Given the description of an element on the screen output the (x, y) to click on. 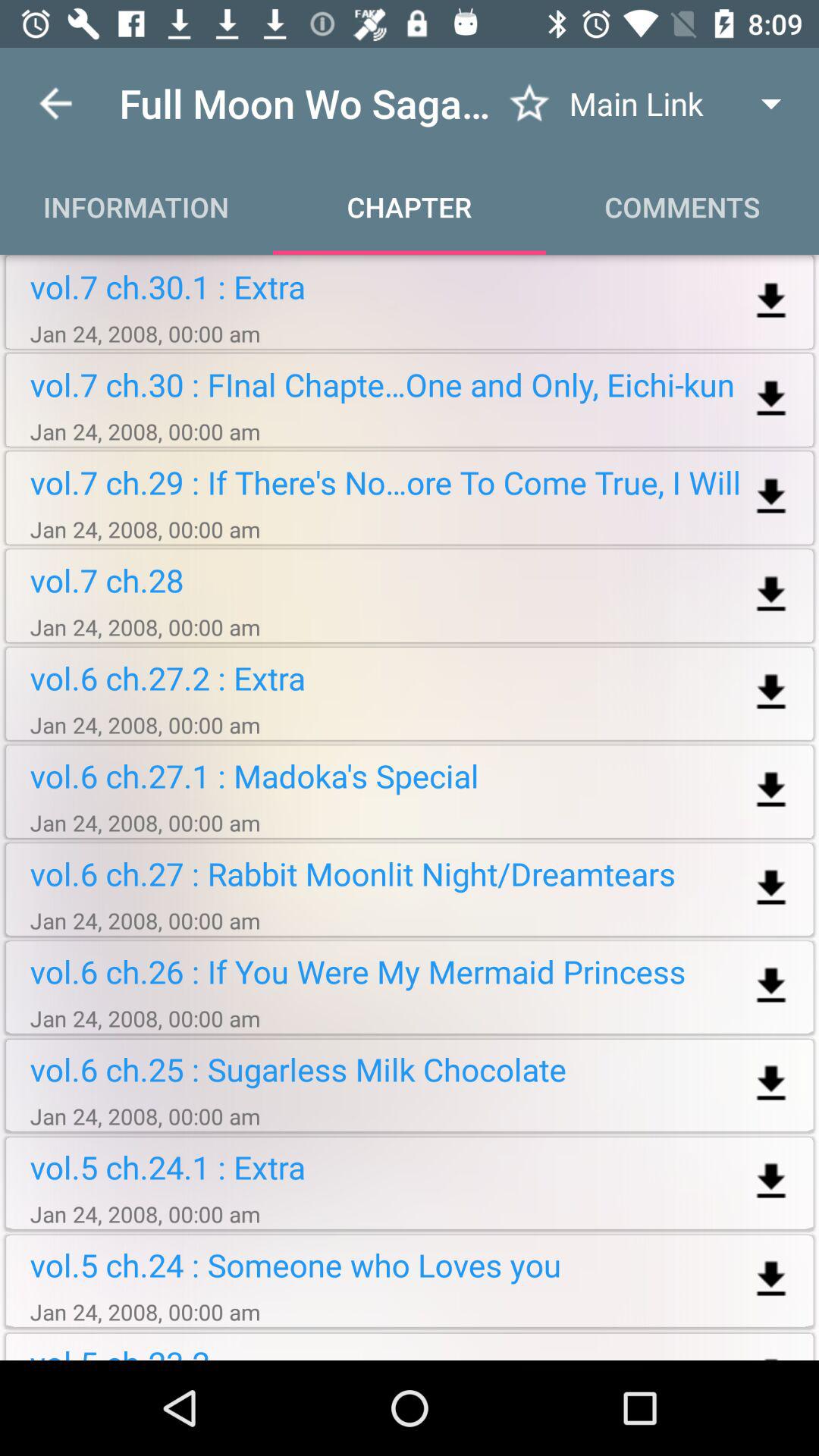
download chapter (771, 1279)
